Given the description of an element on the screen output the (x, y) to click on. 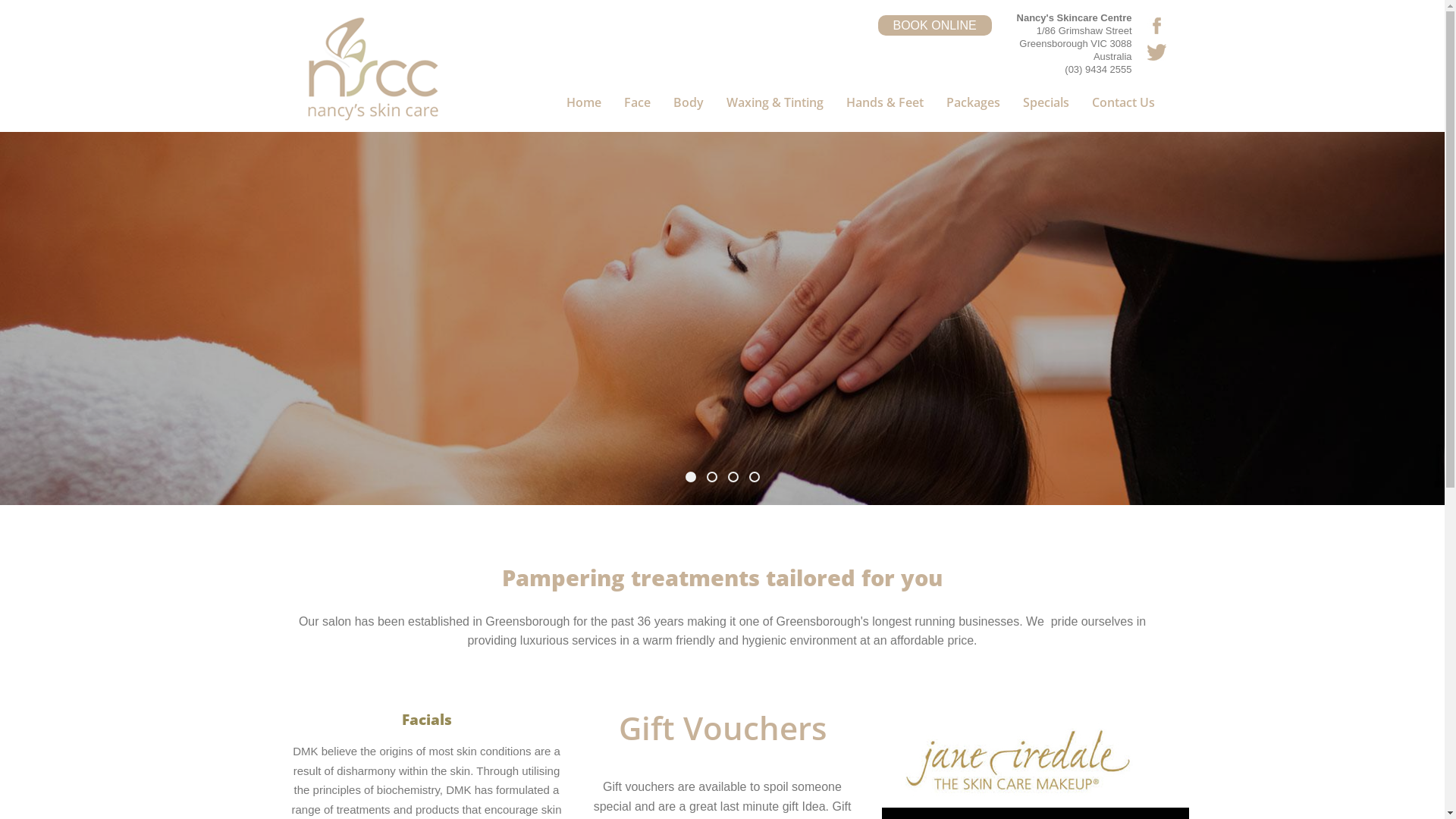
2 Element type: text (711, 476)
Face Element type: text (637, 107)
Packages Element type: text (972, 107)
4 Element type: text (754, 476)
Contact Us Element type: text (1116, 107)
Home Element type: text (583, 107)
Waxing & Tinting Element type: text (774, 107)
Body Element type: text (687, 107)
Hands & Feet Element type: text (884, 107)
Specials Element type: text (1045, 107)
3 Element type: text (733, 476)
1 Element type: text (690, 476)
BOOK ONLINE Element type: text (934, 25)
